Given the description of an element on the screen output the (x, y) to click on. 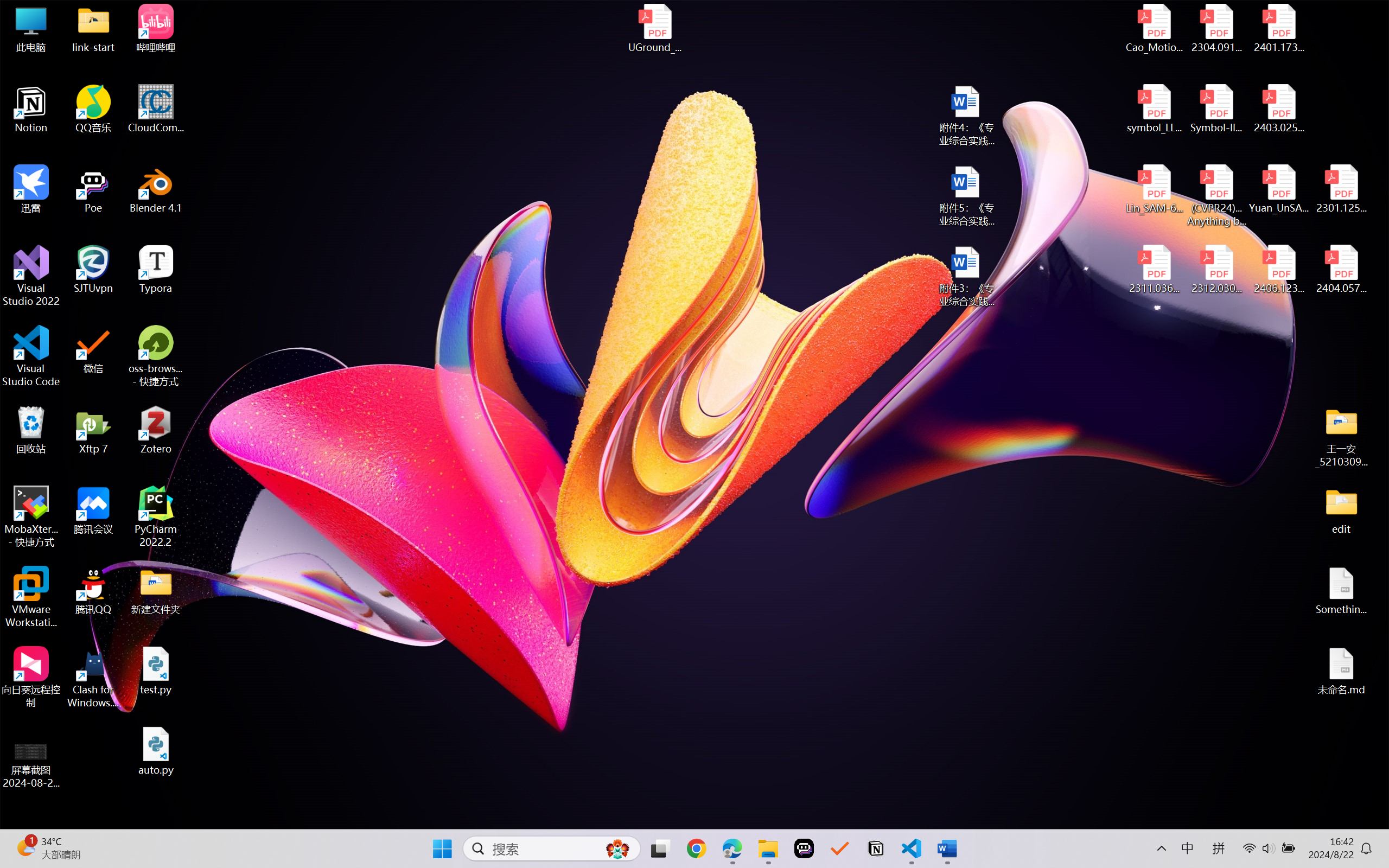
Xftp 7 (93, 430)
2406.12373v2.pdf (1278, 269)
VMware Workstation Pro (31, 597)
2311.03658v2.pdf (1154, 269)
2403.02502v1.pdf (1278, 109)
